Given the description of an element on the screen output the (x, y) to click on. 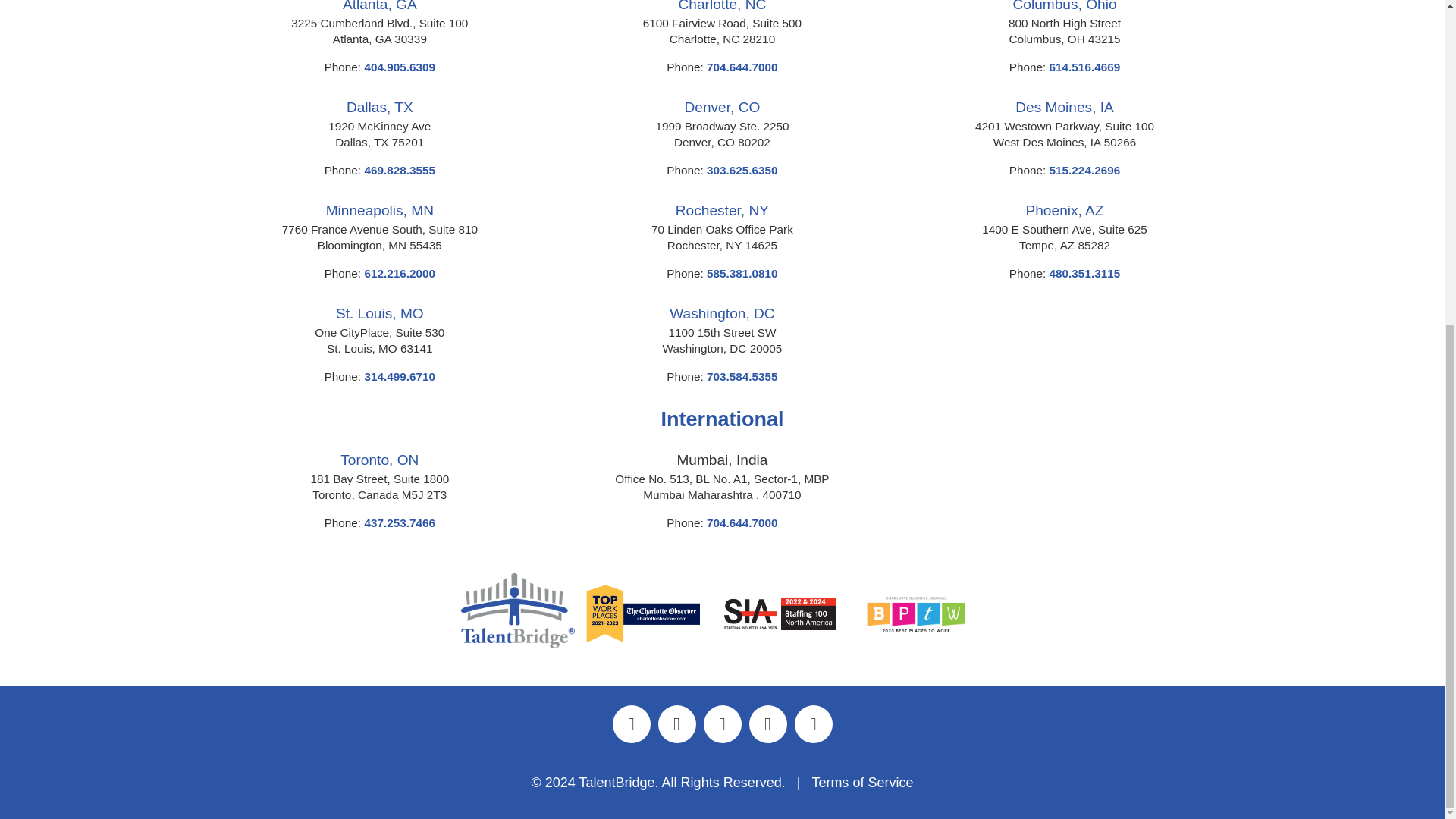
Dallas, TX (379, 107)
614.516.4669 (1085, 66)
612.216.2000 (399, 273)
303.625.6350 (741, 169)
Denver, CO (722, 107)
Des Moines, IA (1063, 107)
404.905.6309 (399, 66)
Charlotte, NC (722, 6)
704.644.7000 (741, 66)
Minneapolis, MN (379, 210)
515.224.2696 (1085, 169)
Atlanta, GA (379, 6)
Columbus, Ohio (1064, 6)
469.828.3555 (399, 169)
